Given the description of an element on the screen output the (x, y) to click on. 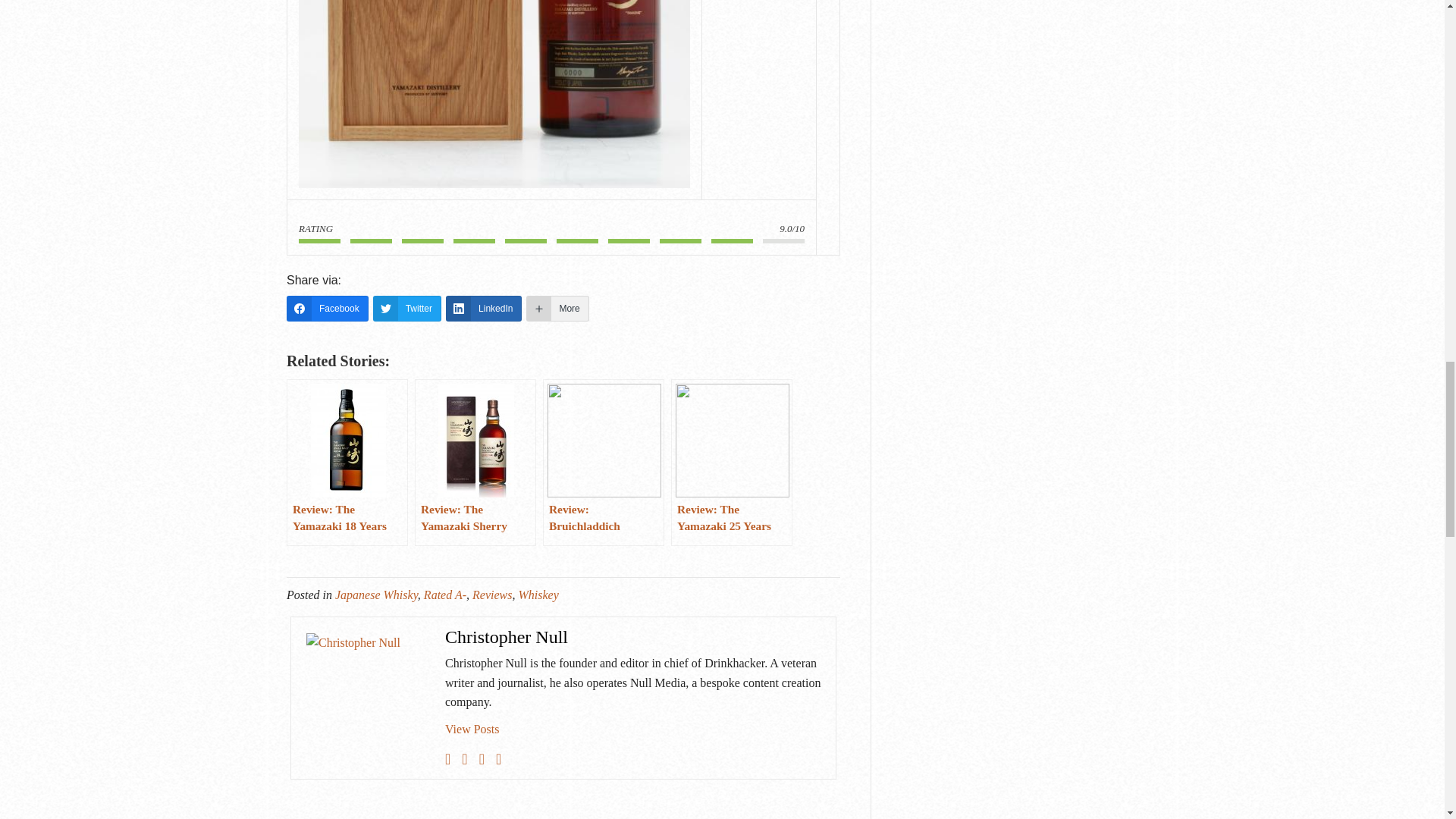
The Yamazaki 1984 (494, 94)
